Given the description of an element on the screen output the (x, y) to click on. 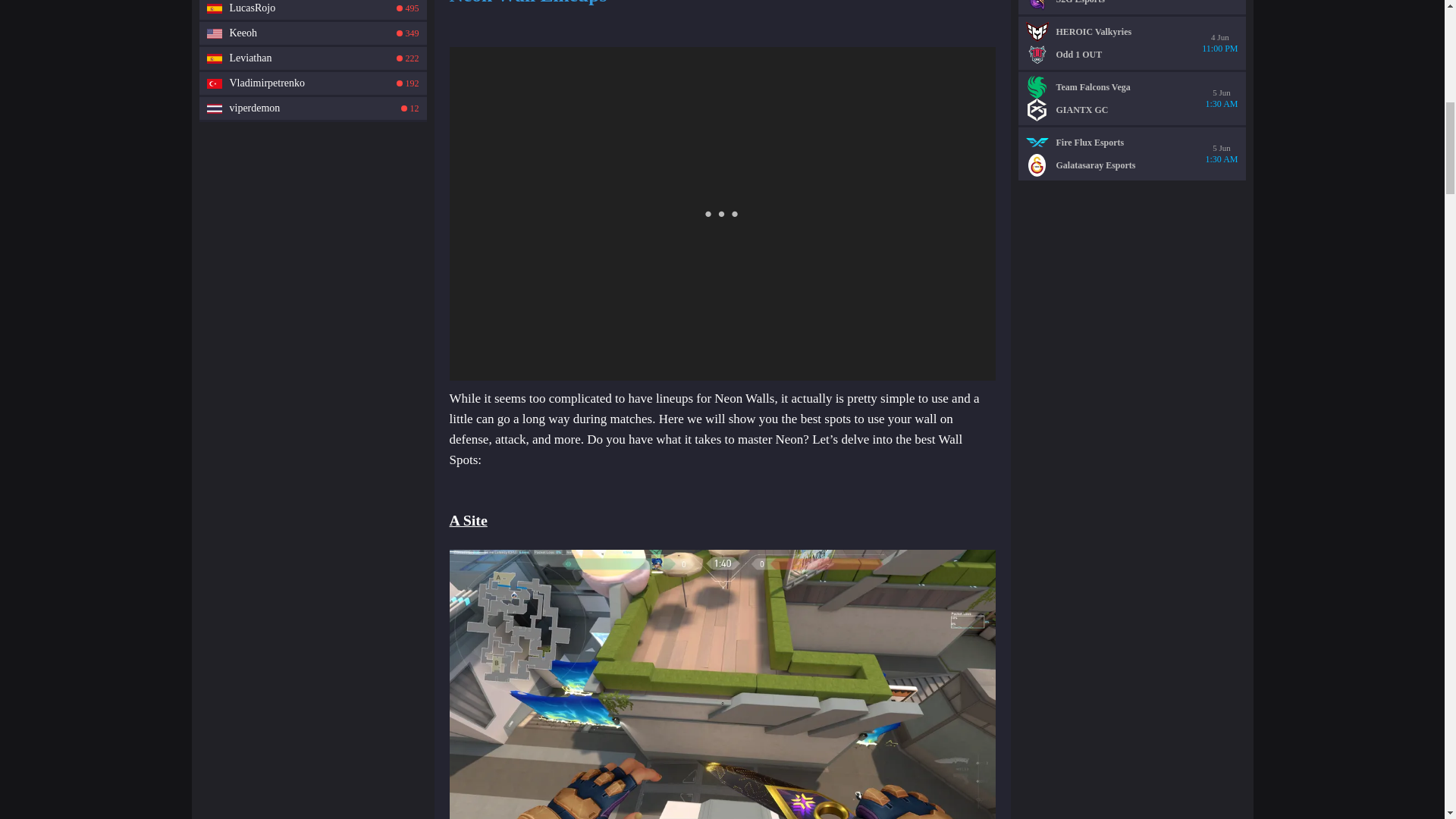
Spain (312, 108)
Thailand (213, 58)
Turkey (213, 108)
United States of America (312, 33)
Spain (213, 83)
